Given the description of an element on the screen output the (x, y) to click on. 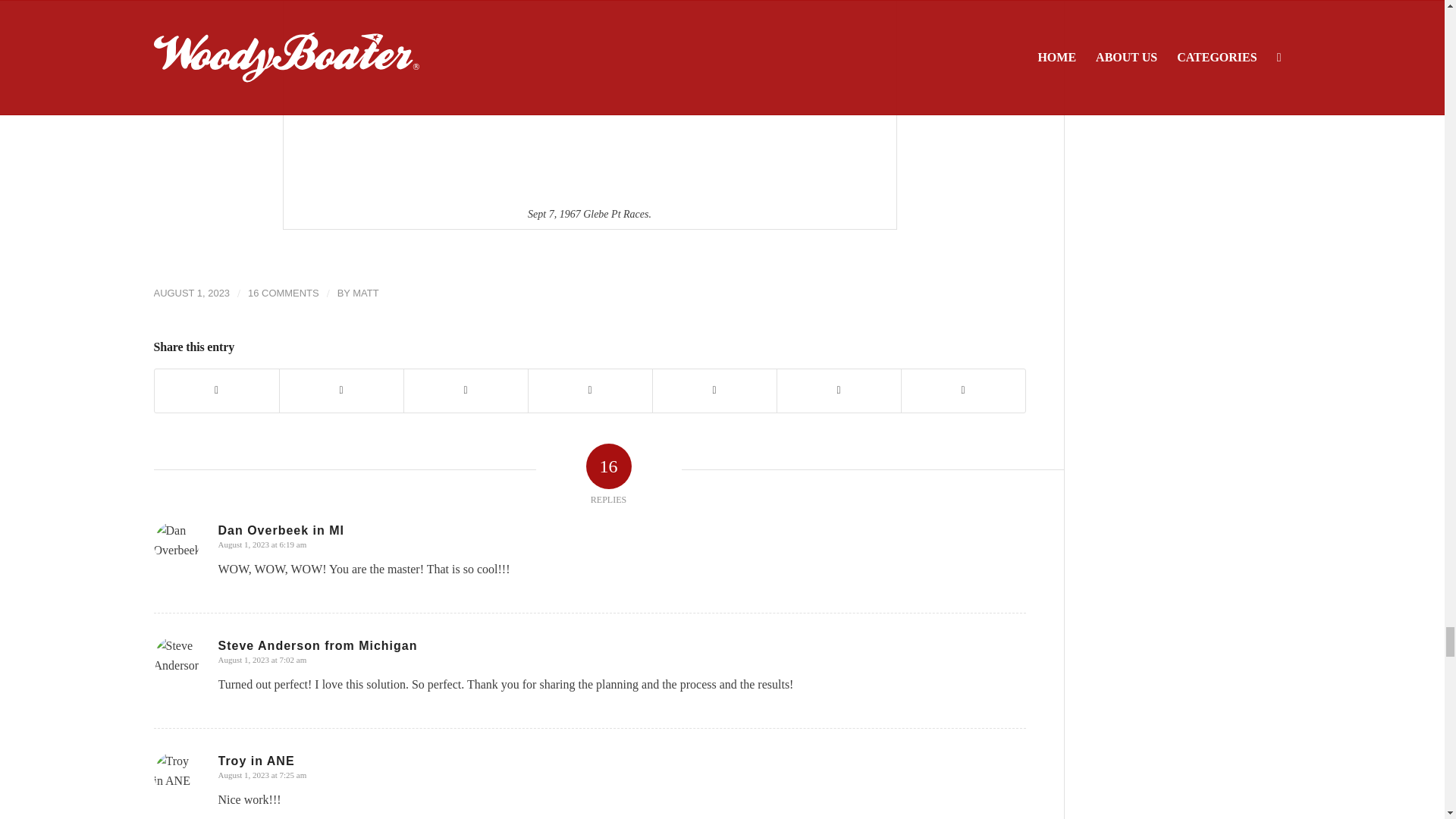
August 1, 2023 at 7:25 am (262, 774)
August 1, 2023 at 6:19 am (262, 543)
16 COMMENTS (282, 292)
Posts by Matt (365, 292)
MATT (365, 292)
August 1, 2023 at 7:02 am (262, 659)
